Given the description of an element on the screen output the (x, y) to click on. 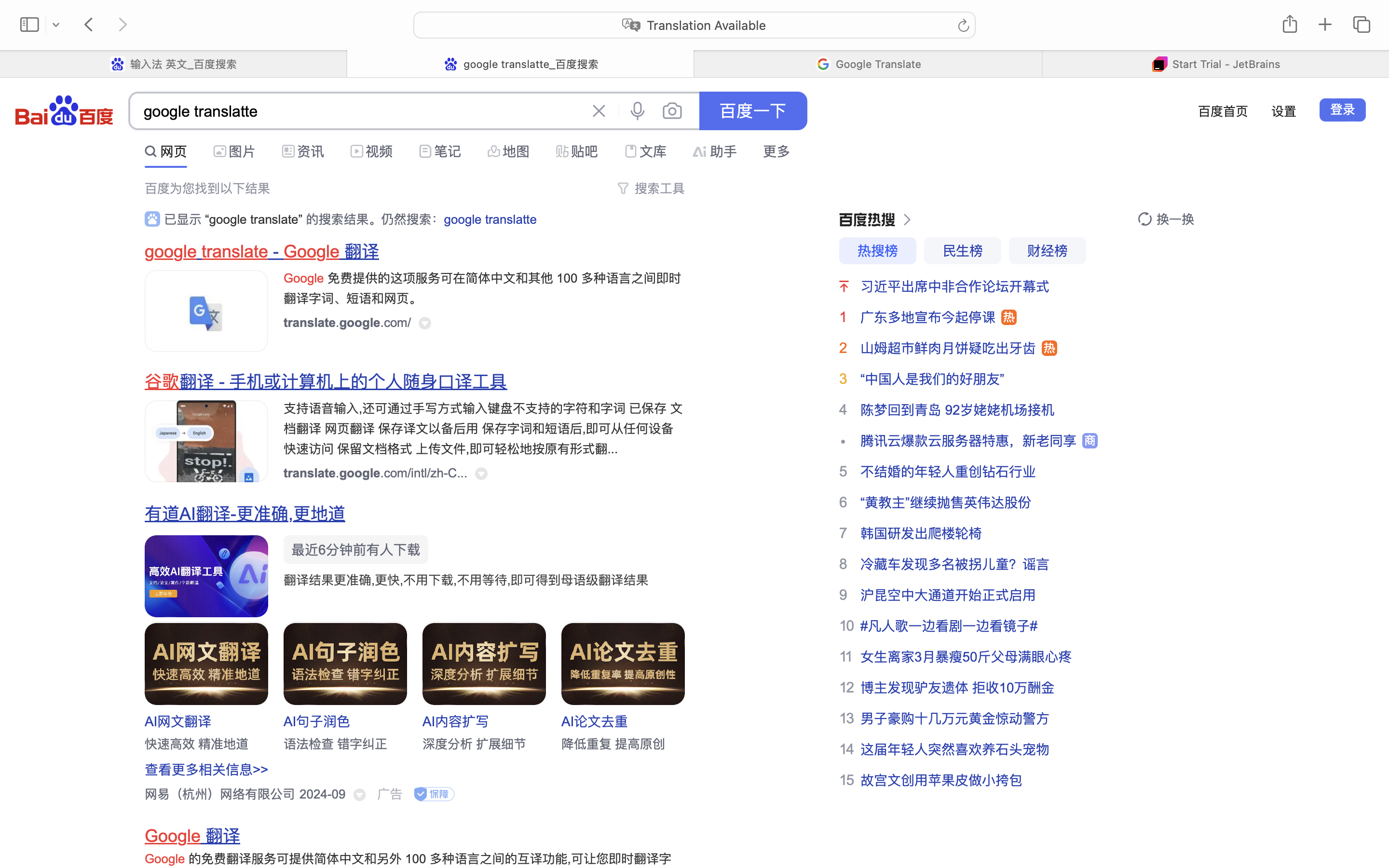
登录 Element type: AXStaticText (1342, 109)
沪昆空中大通道开始正式启用 Element type: AXStaticText (947, 594)
 Element type: AXStaticText (1144, 218)
时间不限 Element type: AXStaticText (169, 148)
 Element type: AXStaticText (152, 218)
